Given the description of an element on the screen output the (x, y) to click on. 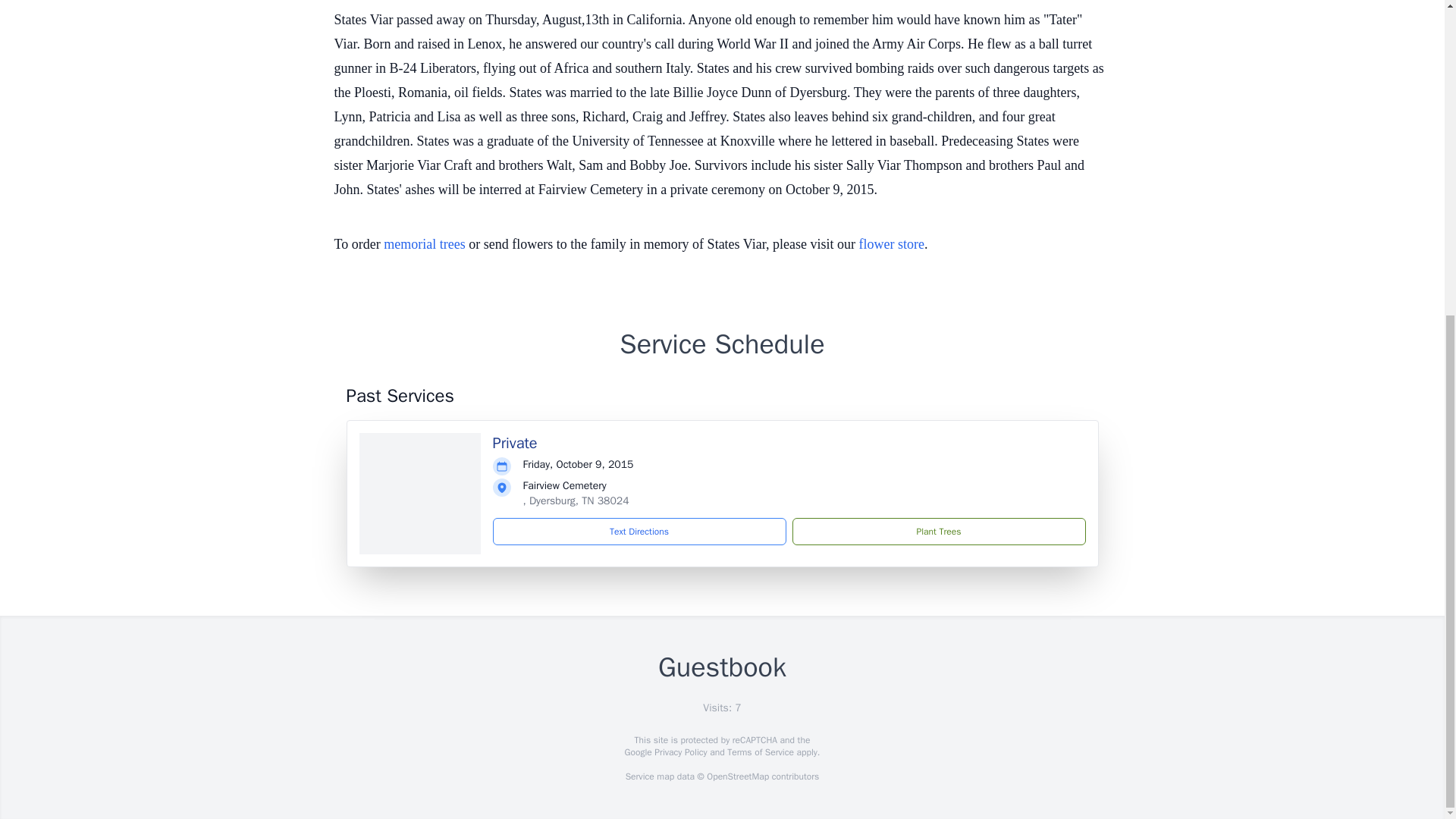
, Dyersburg, TN 38024 (575, 500)
flower store (891, 243)
Plant Trees (938, 531)
OpenStreetMap (737, 776)
Text Directions (639, 531)
memorial trees (424, 243)
Terms of Service (759, 752)
Privacy Policy (679, 752)
